Given the description of an element on the screen output the (x, y) to click on. 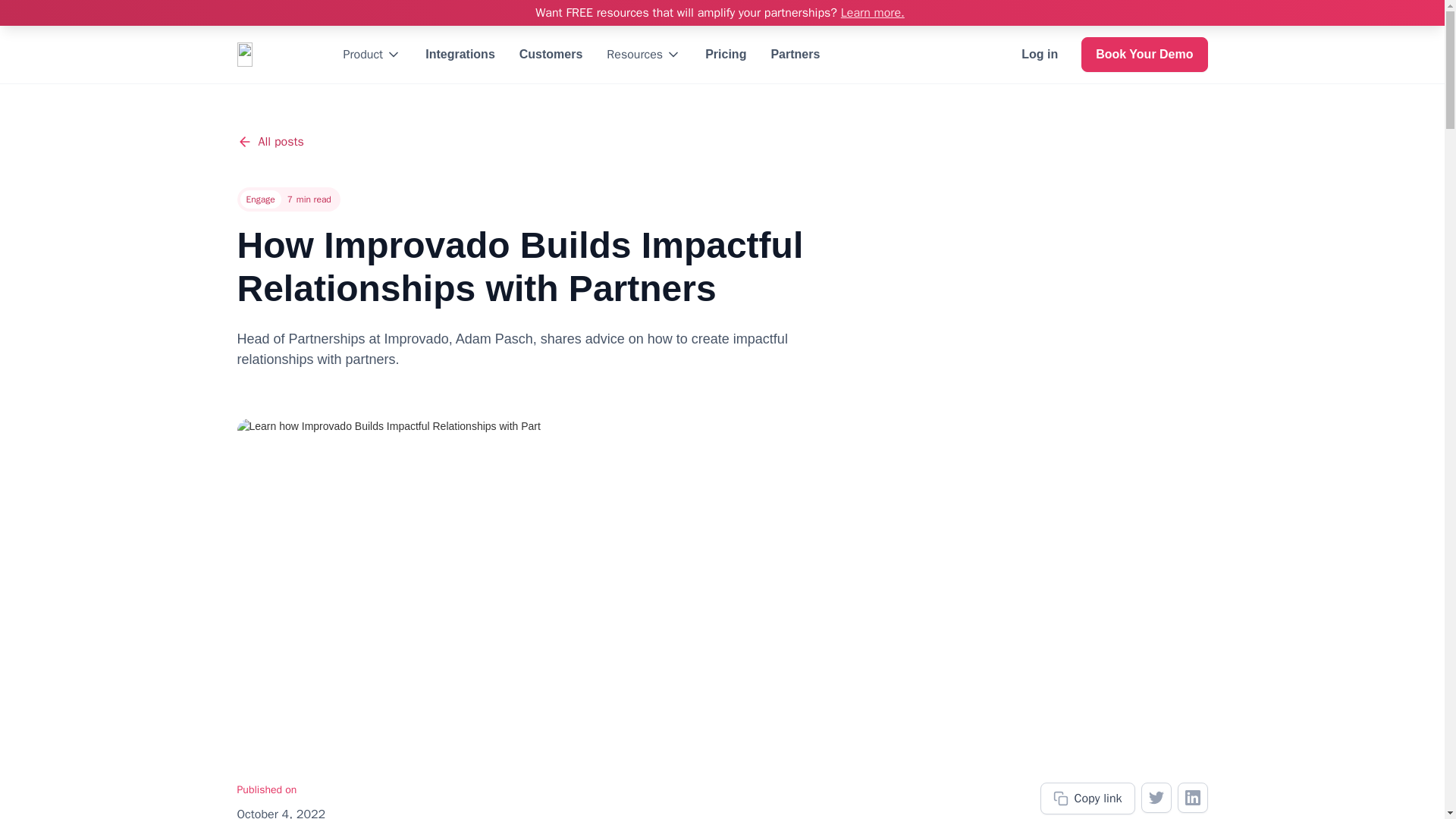
Pricing (725, 54)
Copy link (1088, 798)
All posts (268, 141)
Integrations (459, 54)
Log in (1039, 54)
Book Your Demo (1144, 54)
Partners (794, 54)
Learn more. (872, 12)
Customers (550, 54)
